Given the description of an element on the screen output the (x, y) to click on. 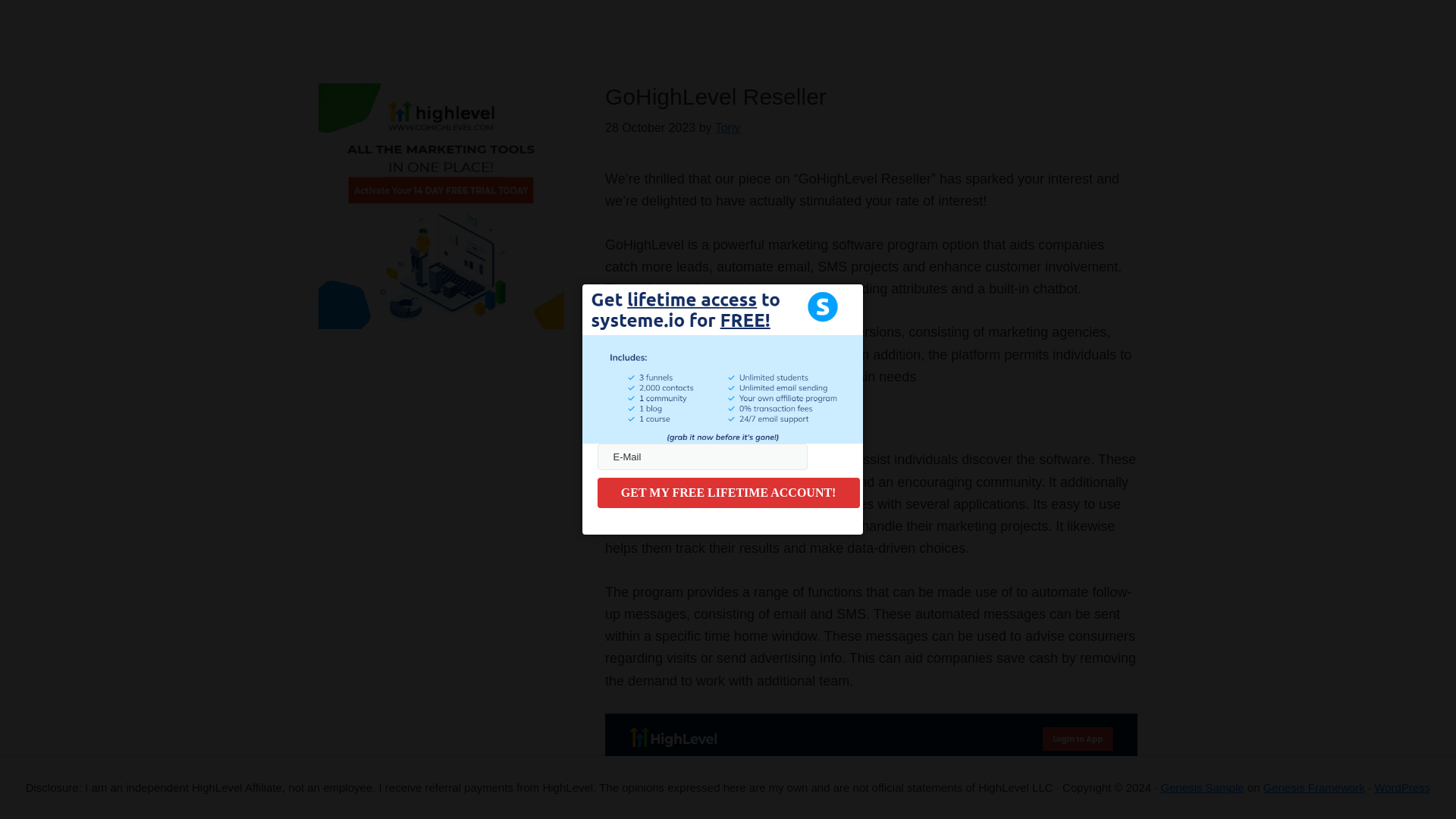
Genesis Framework (1314, 787)
Tony (727, 127)
GET MY FREE LIFETIME ACCOUNT! (728, 492)
GET MY FREE LIFETIME ACCOUNT! (728, 492)
WordPress (1401, 787)
Genesis Sample (1202, 787)
